Given the description of an element on the screen output the (x, y) to click on. 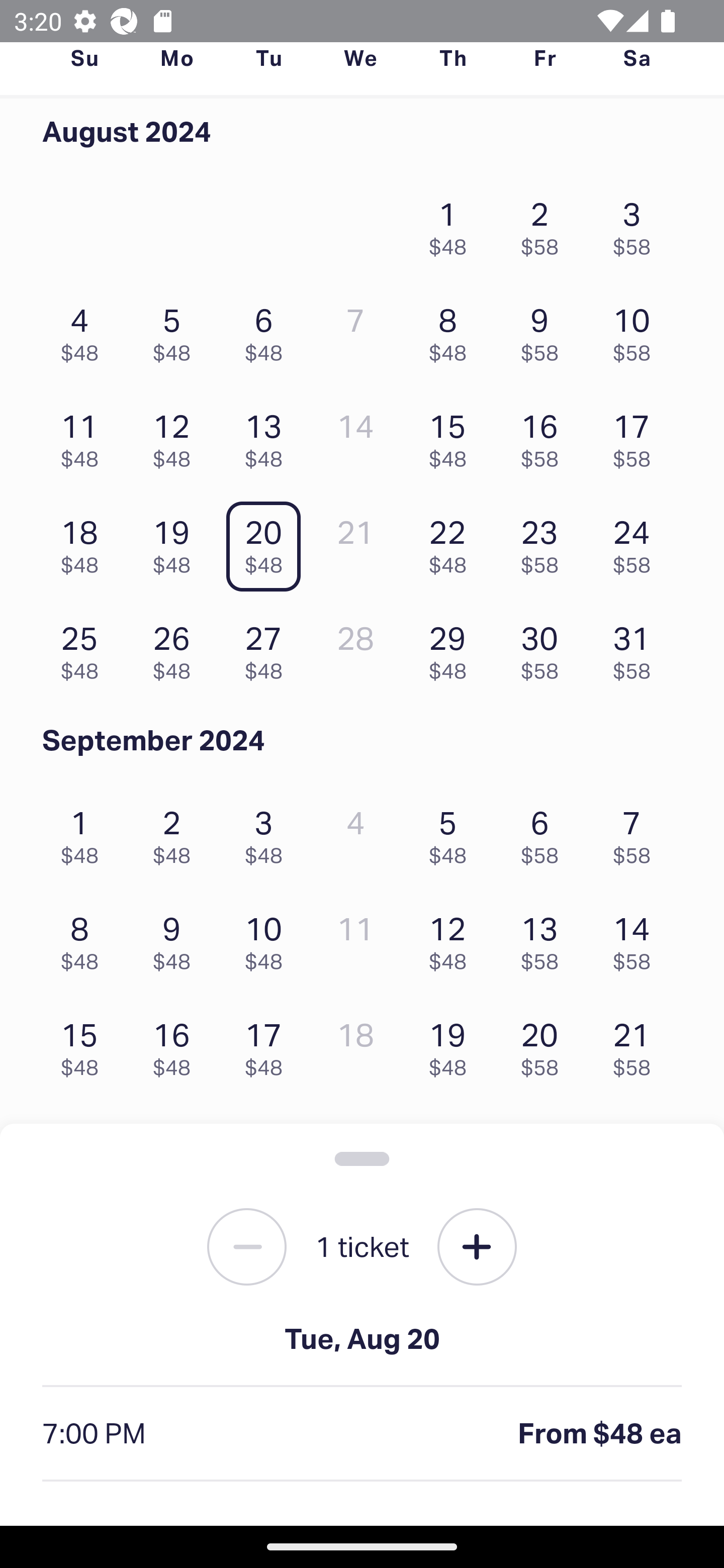
1 $48 (452, 223)
2 $58 (544, 223)
3 $58 (636, 223)
4 $48 (84, 329)
5 $48 (176, 329)
6 $48 (268, 329)
8 $48 (452, 329)
9 $58 (544, 329)
10 $58 (636, 329)
11 $48 (84, 435)
12 $48 (176, 435)
13 $48 (268, 435)
15 $48 (452, 435)
16 $58 (544, 435)
17 $58 (636, 435)
18 $48 (84, 541)
19 $48 (176, 541)
20 $48 (268, 541)
22 $48 (452, 541)
23 $58 (544, 541)
24 $58 (636, 541)
25 $48 (84, 647)
26 $48 (176, 647)
27 $48 (268, 647)
29 $48 (452, 647)
30 $58 (544, 647)
31 $58 (636, 647)
1 $48 (84, 831)
2 $48 (176, 831)
3 $48 (268, 831)
5 $48 (452, 831)
6 $58 (544, 831)
7 $58 (636, 831)
8 $48 (84, 938)
9 $48 (176, 938)
10 $48 (268, 938)
12 $48 (452, 938)
13 $58 (544, 938)
14 $58 (636, 938)
15 $48 (84, 1044)
16 $48 (176, 1044)
17 $48 (268, 1044)
19 $48 (452, 1044)
20 $58 (544, 1044)
21 $58 (636, 1044)
7:00 PM From $48 ea (361, 1434)
